Given the description of an element on the screen output the (x, y) to click on. 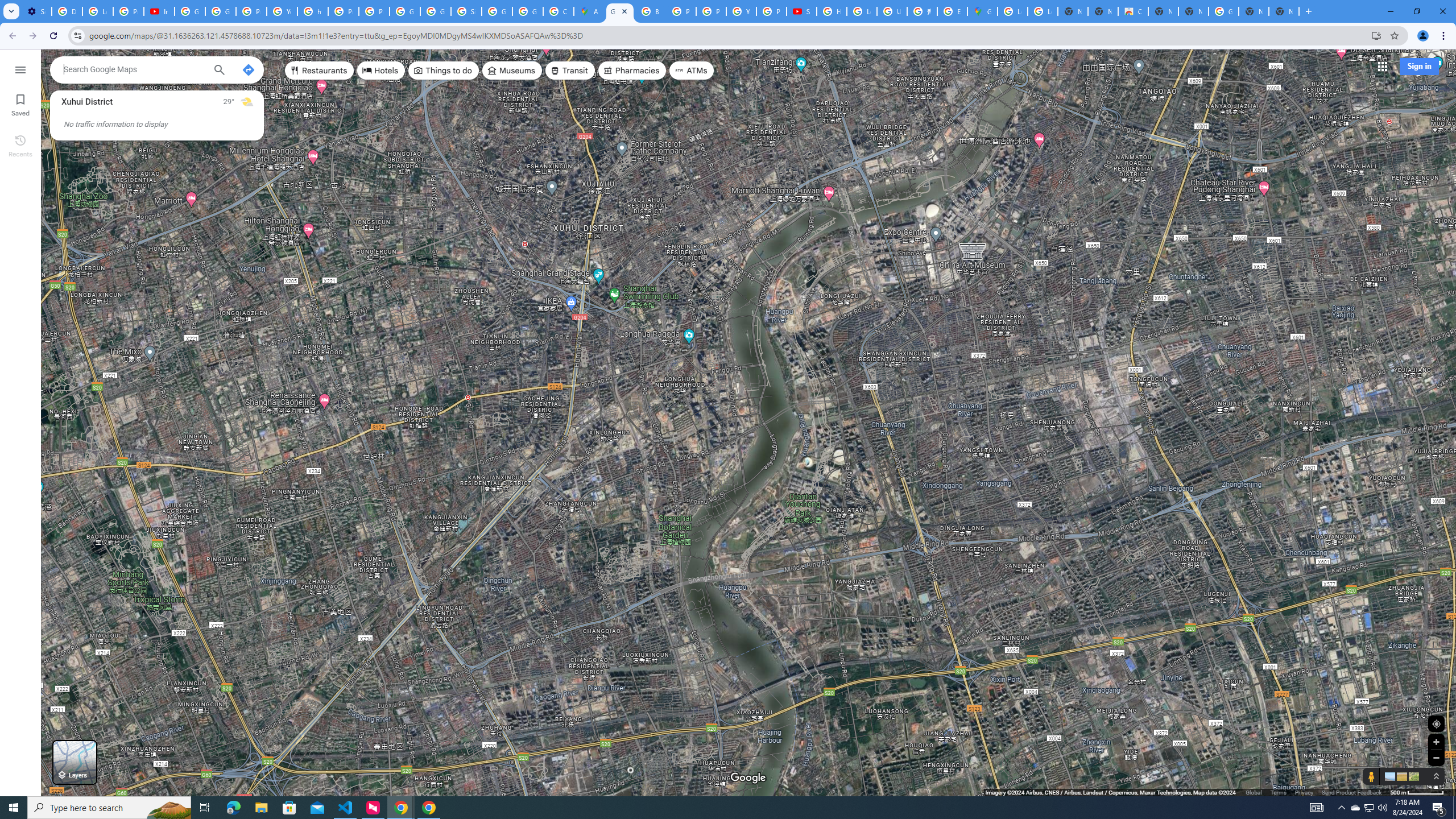
Send Product Feedback (1351, 792)
Sign in - Google Accounts (465, 11)
Global (1253, 792)
Things to do (443, 70)
Zoom in (1436, 741)
Introduction | Google Privacy Policy - YouTube (158, 11)
Create your Google Account (558, 11)
Privacy Help Center - Policies Help (710, 11)
YouTube (282, 11)
Delete photos & videos - Computer - Google Photos Help (66, 11)
